Given the description of an element on the screen output the (x, y) to click on. 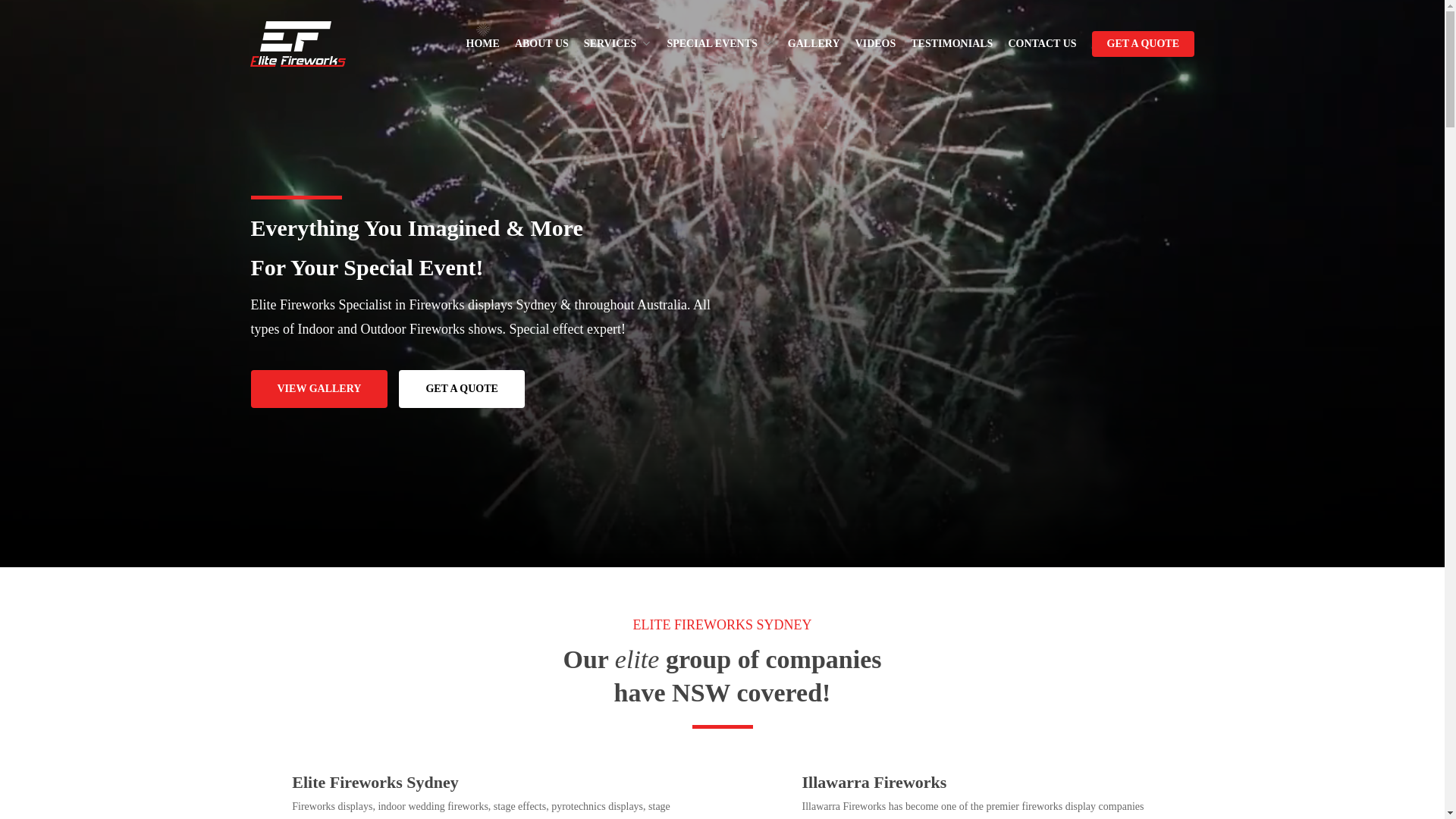
HOME Element type: text (482, 43)
CONTACT US Element type: text (1041, 43)
VIEW GALLERY Element type: text (318, 388)
GALLERY Element type: text (813, 43)
TESTIMONIALS Element type: text (951, 43)
VIDEOS Element type: text (875, 43)
SPECIAL EVENTS Element type: text (718, 43)
ABOUT US Element type: text (541, 43)
GET A QUOTE Element type: text (1143, 43)
SERVICES Element type: text (617, 43)
GET A QUOTE Element type: text (461, 388)
